Given the description of an element on the screen output the (x, y) to click on. 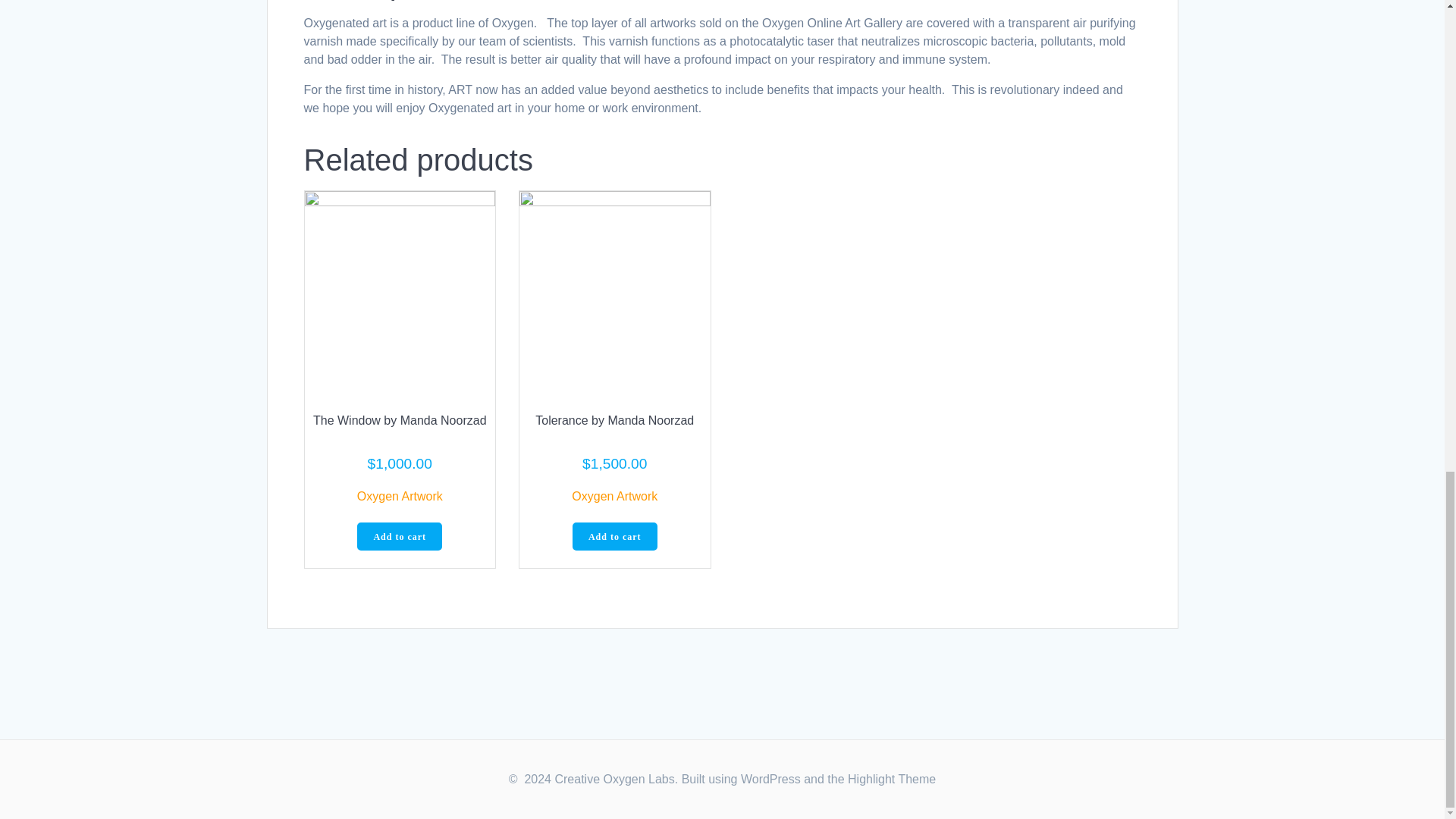
Oxygen Artwork (615, 495)
Highlight Theme (891, 779)
Oxygen Artwork (399, 495)
Add to cart (615, 536)
Add to cart (399, 536)
